Given the description of an element on the screen output the (x, y) to click on. 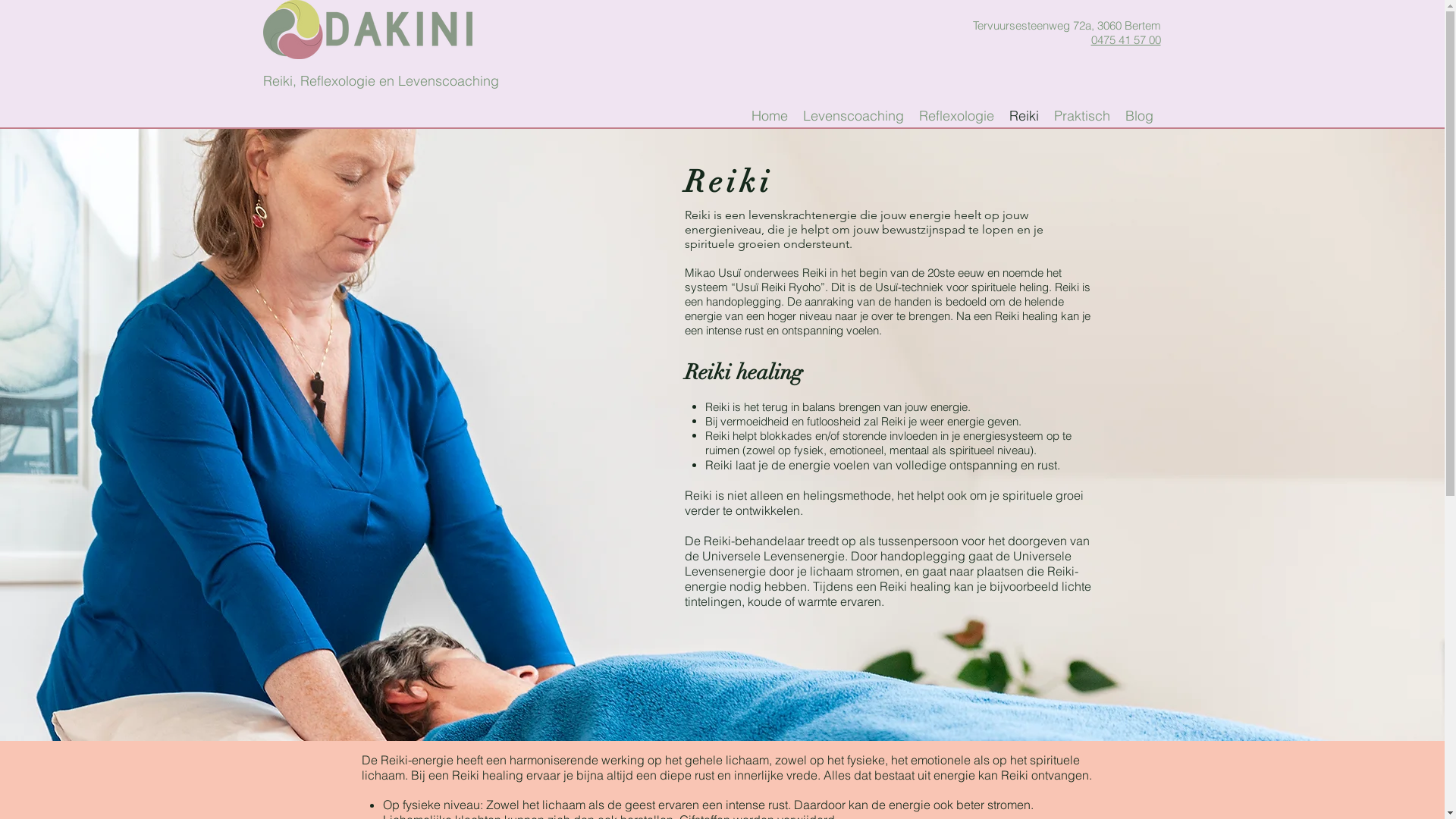
Home Element type: text (768, 115)
Levenscoaching Element type: text (852, 115)
Reiki Element type: text (1023, 115)
Blog Element type: text (1139, 115)
Reflexologie Element type: text (956, 115)
0475 41 57 00 Element type: text (1125, 39)
